Given the description of an element on the screen output the (x, y) to click on. 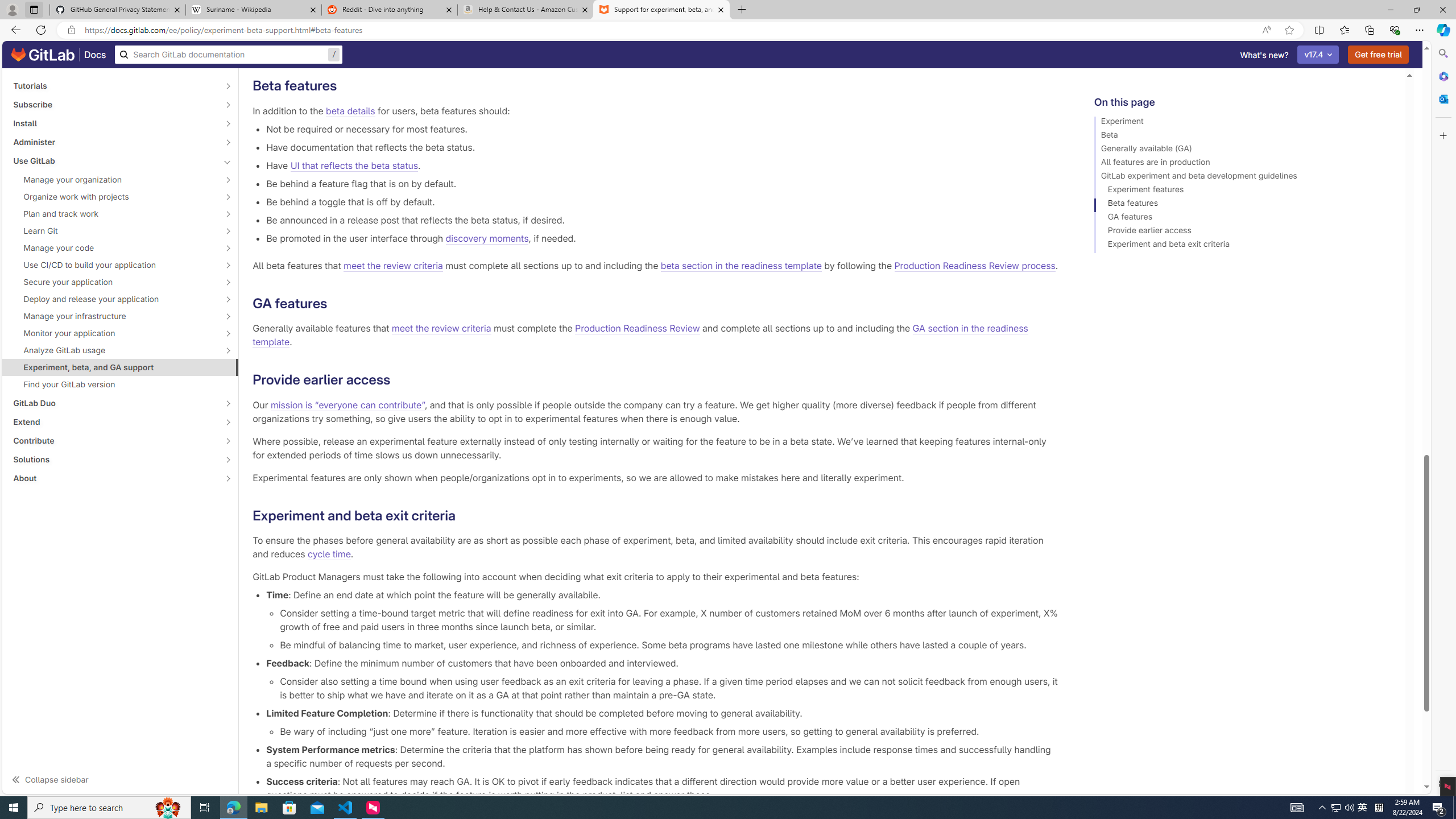
Experiment, beta, and GA support (120, 366)
Experiment features (1244, 191)
Provide earlier access (1244, 232)
cycle time (328, 554)
Experiment and beta exit criteria (1244, 246)
Monitor your application (113, 333)
